Given the description of an element on the screen output the (x, y) to click on. 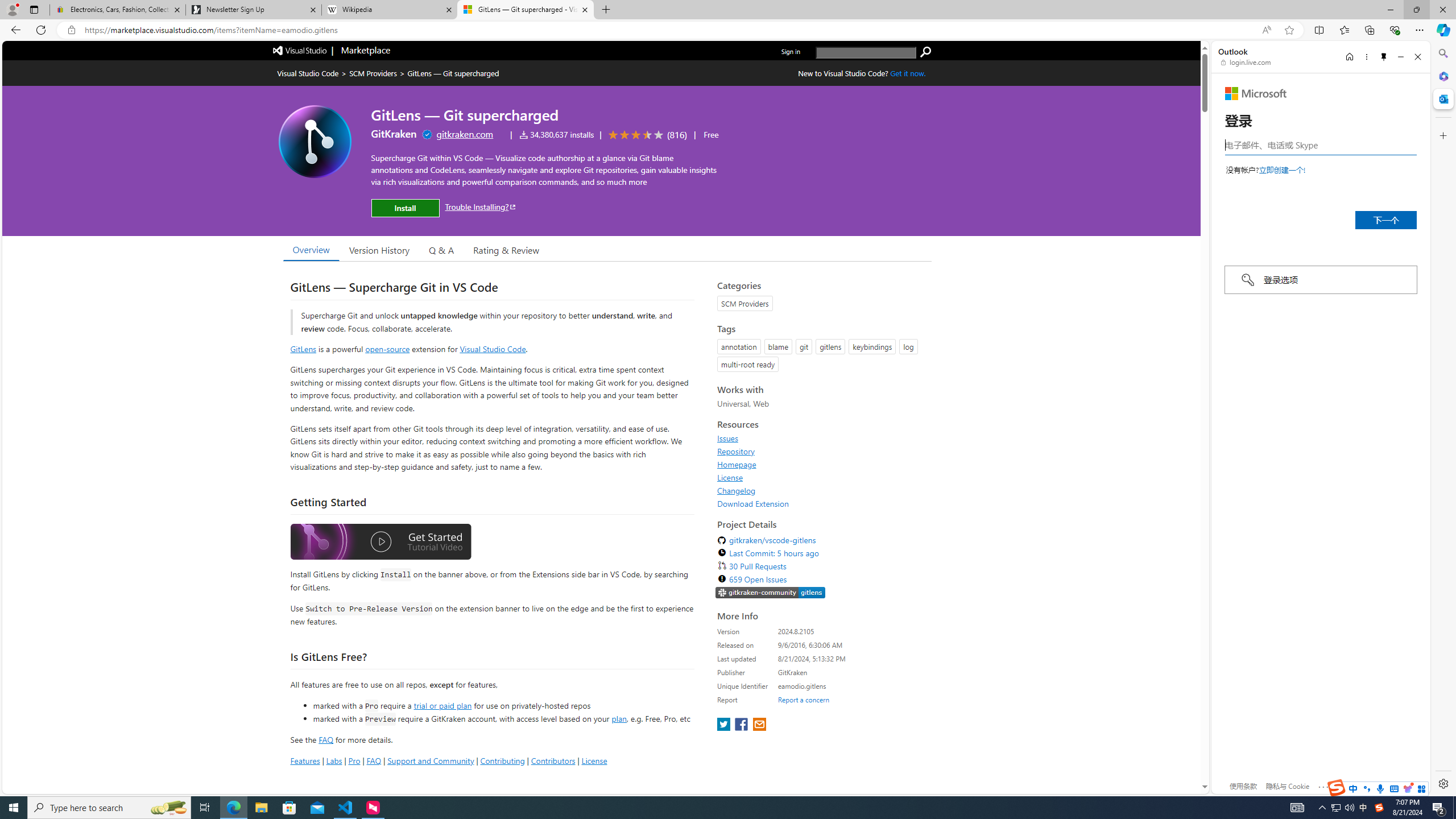
https://slack.gitkraken.com// (769, 593)
Report a concern (803, 699)
App bar (728, 29)
